Given the description of an element on the screen output the (x, y) to click on. 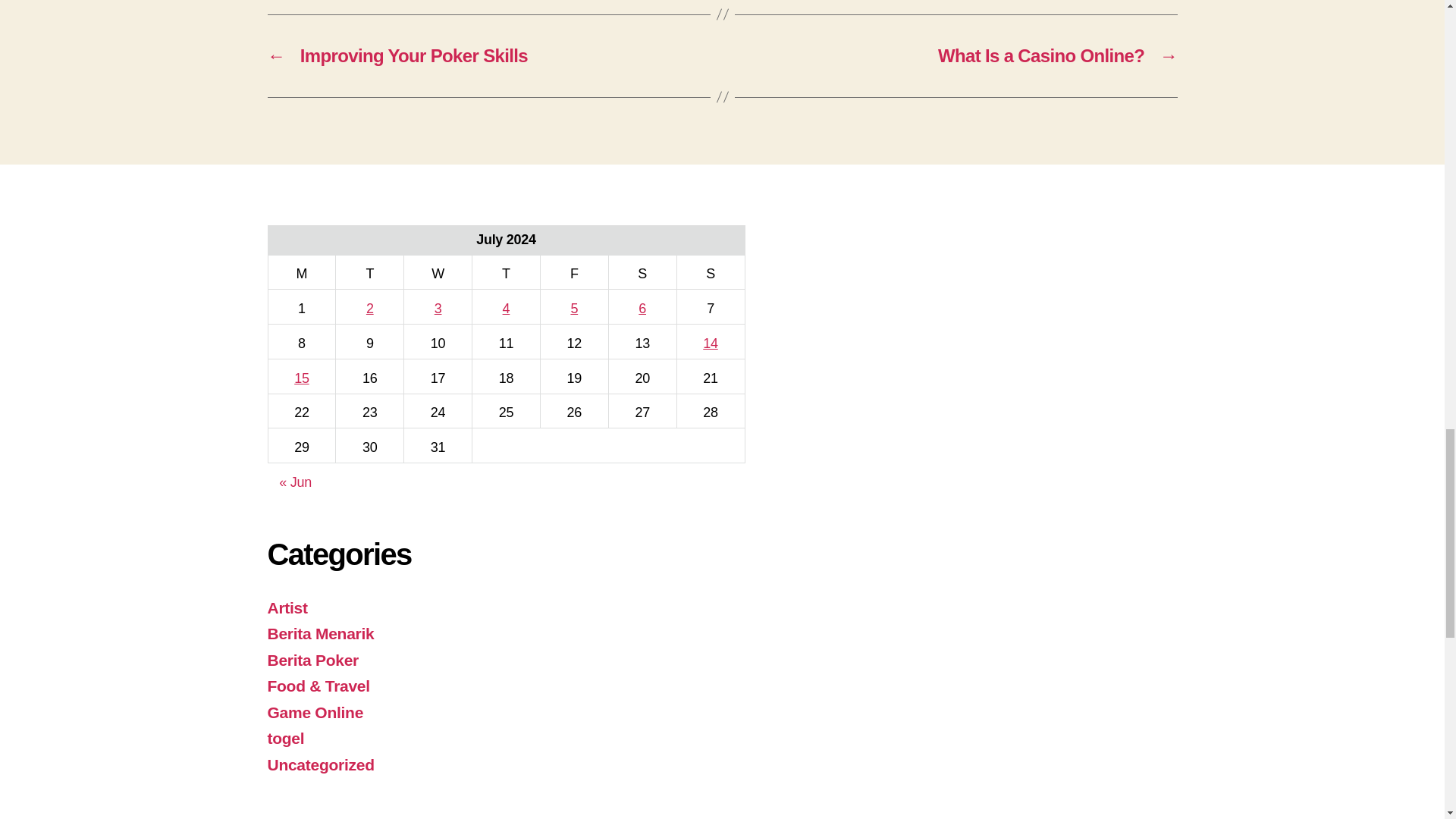
14 (710, 343)
Saturday (642, 271)
Berita Menarik (320, 633)
Tuesday (370, 271)
Friday (574, 271)
Thursday (505, 271)
Artist (286, 607)
Sunday (710, 271)
Wednesday (437, 271)
15 (301, 378)
Monday (301, 271)
Berita Poker (312, 660)
